Given the description of an element on the screen output the (x, y) to click on. 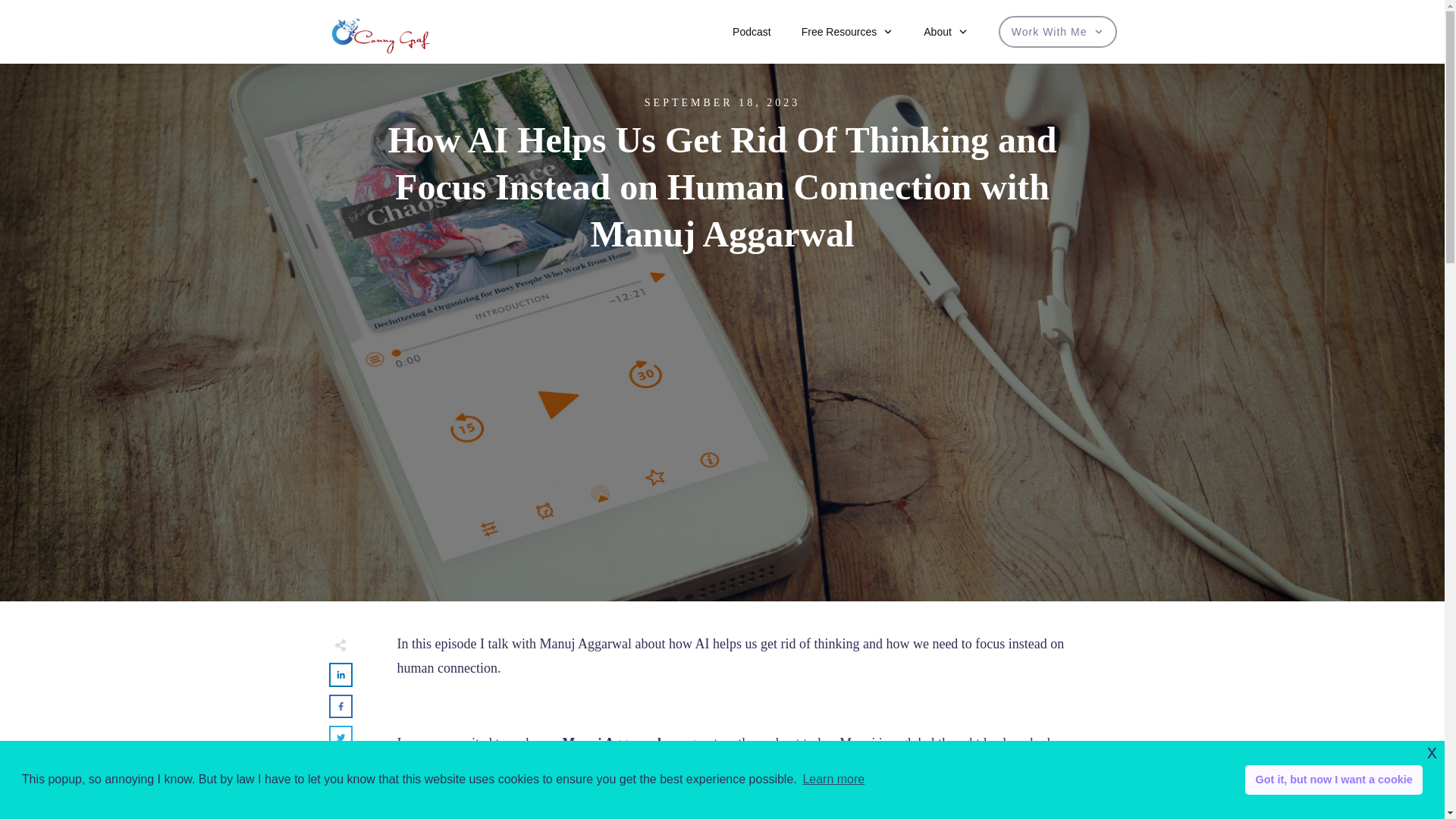
Podcast (751, 31)
Work With Me (1057, 31)
About (945, 31)
Free Resources (847, 31)
